Given the description of an element on the screen output the (x, y) to click on. 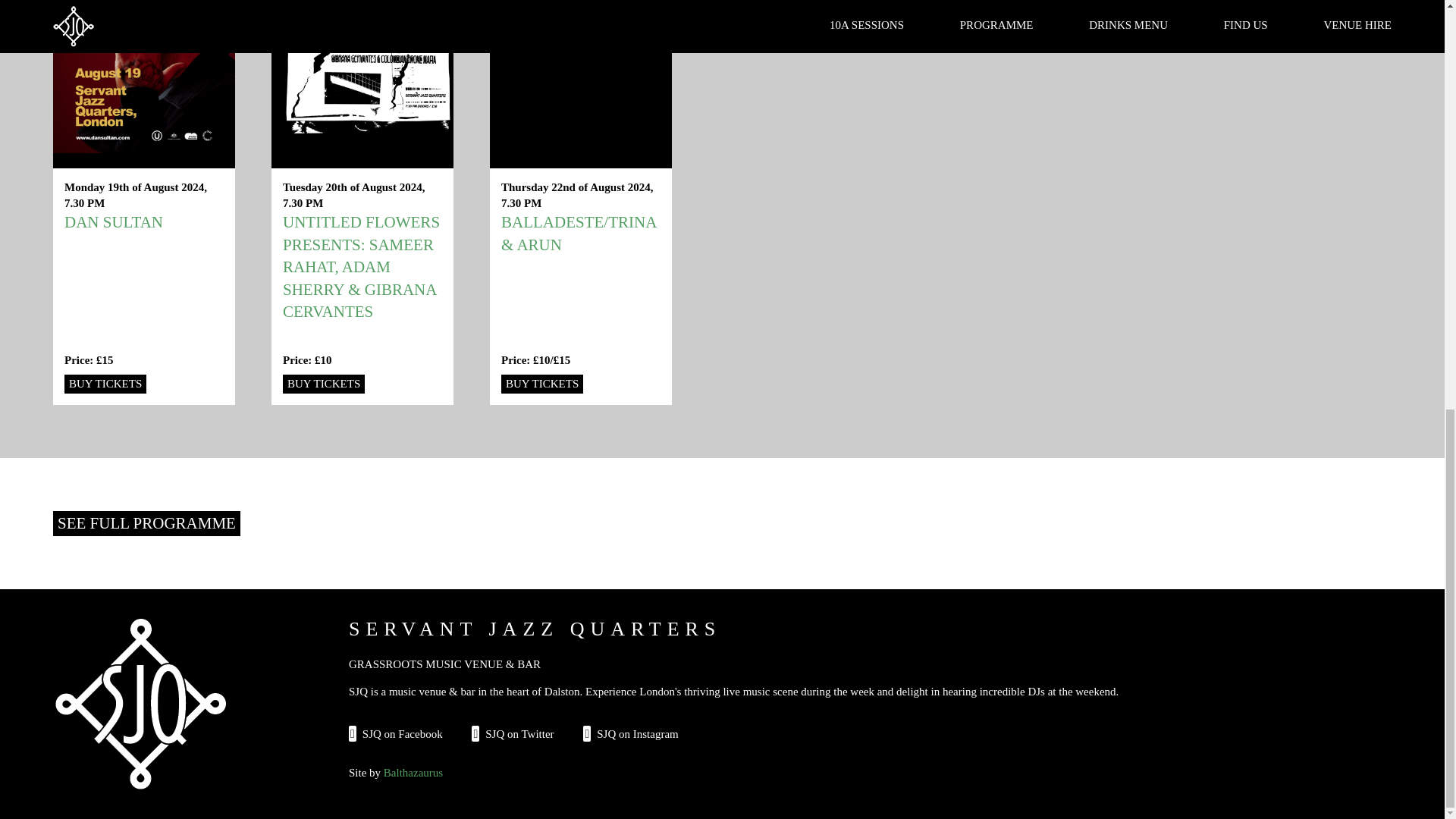
BUY TICKETS (323, 383)
SJQ on Twitter (512, 734)
SJQ on Instagram (630, 734)
DAN SULTAN (113, 221)
Home (140, 703)
BUY TICKETS (105, 383)
BUY TICKETS (541, 383)
SJQ on Facebook (395, 734)
SEE FULL PROGRAMME (146, 523)
Balthazaurus (413, 772)
